Given the description of an element on the screen output the (x, y) to click on. 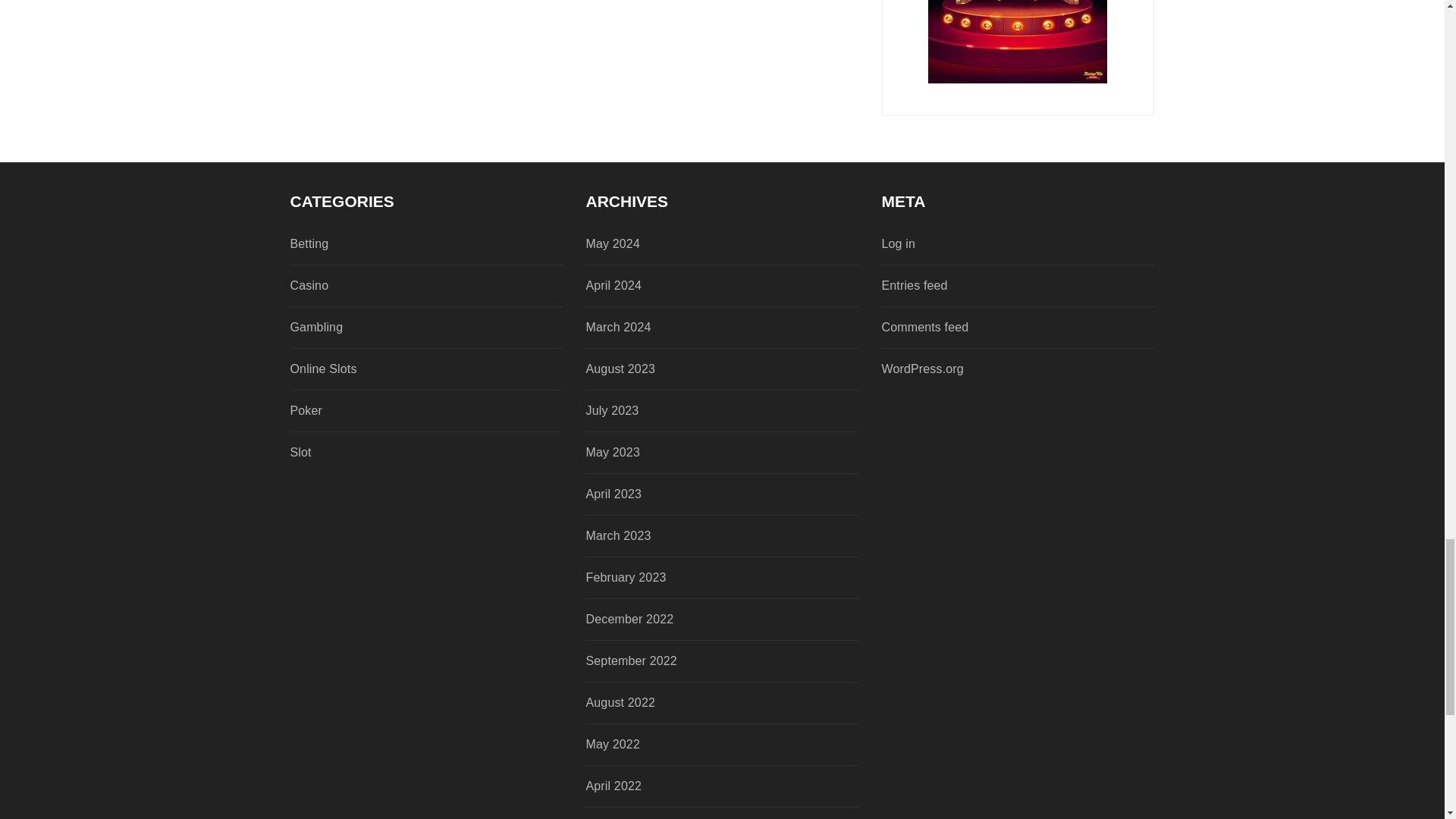
Online Slots (398, 369)
Casino (398, 285)
March 2024 (694, 327)
Gambling (398, 327)
Poker (398, 411)
Betting (398, 244)
May 2024 (694, 244)
Slot (398, 452)
April 2024 (694, 285)
August 2023 (694, 369)
